Given the description of an element on the screen output the (x, y) to click on. 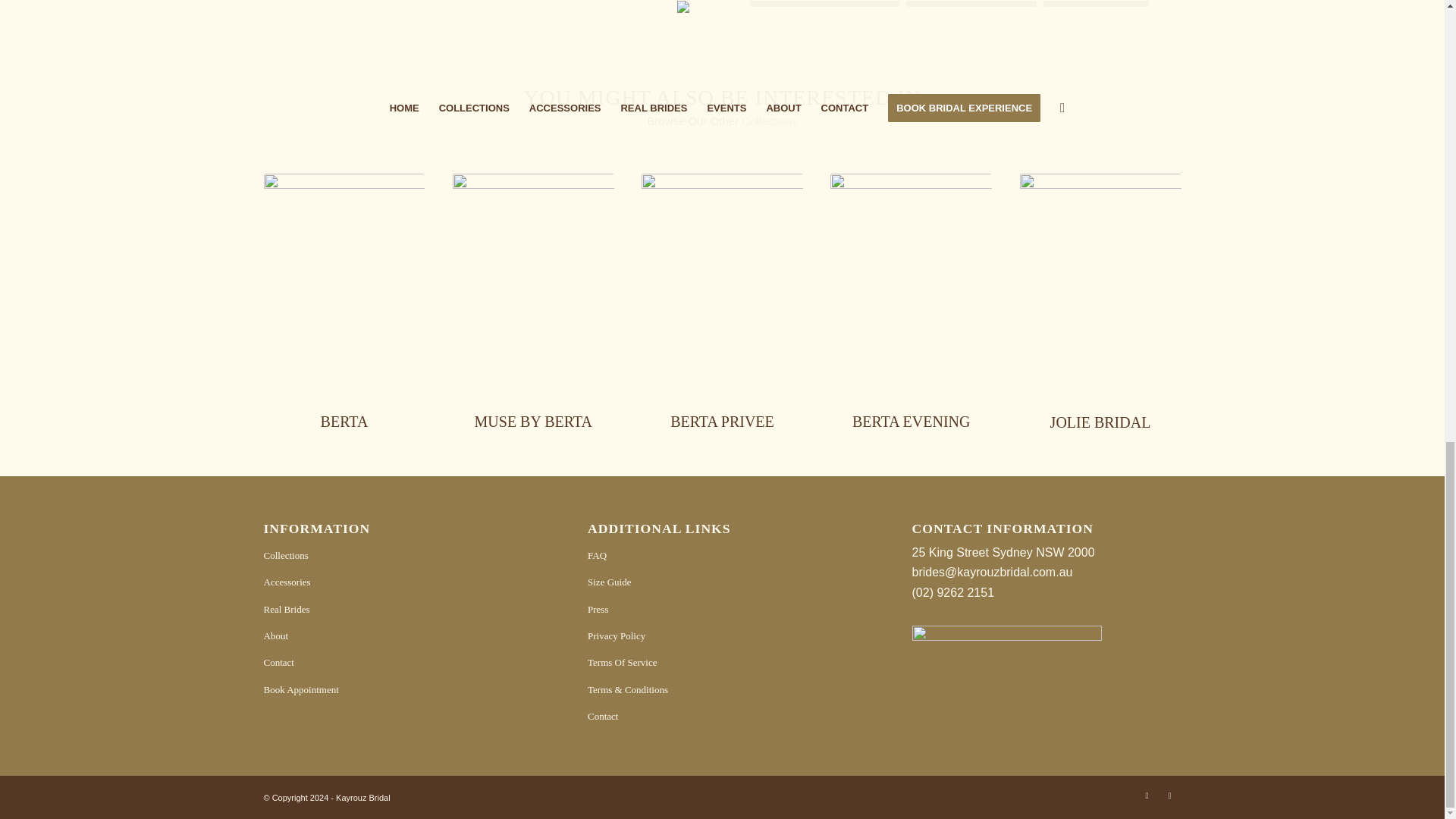
SIZE GUIDE (1095, 3)
Collections (768, 120)
Facebook (1146, 794)
GENERAL ENQUIRIES (824, 3)
MAKE A BOOKING (970, 3)
